Given the description of an element on the screen output the (x, y) to click on. 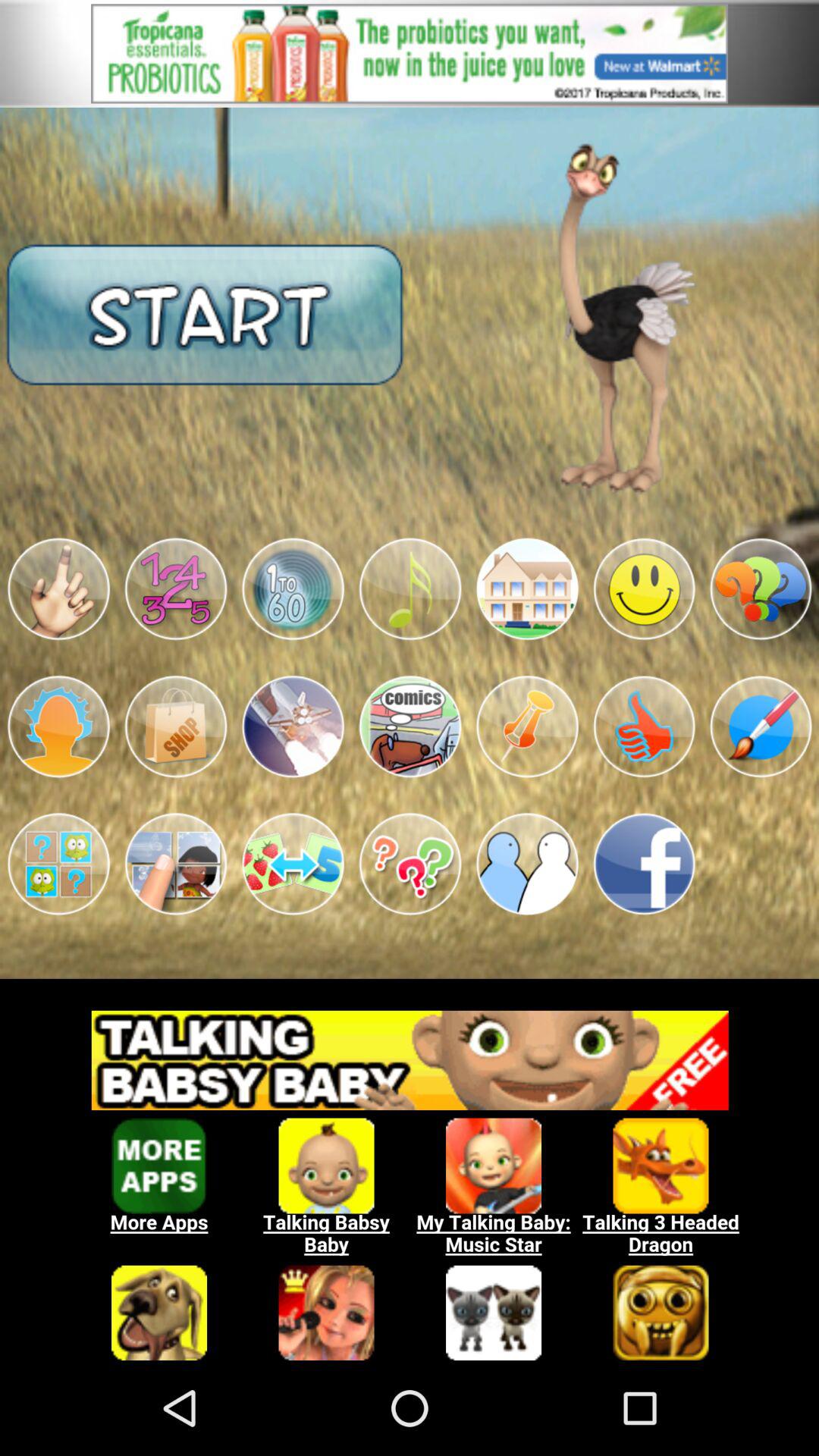
selct facebook (643, 863)
